Given the description of an element on the screen output the (x, y) to click on. 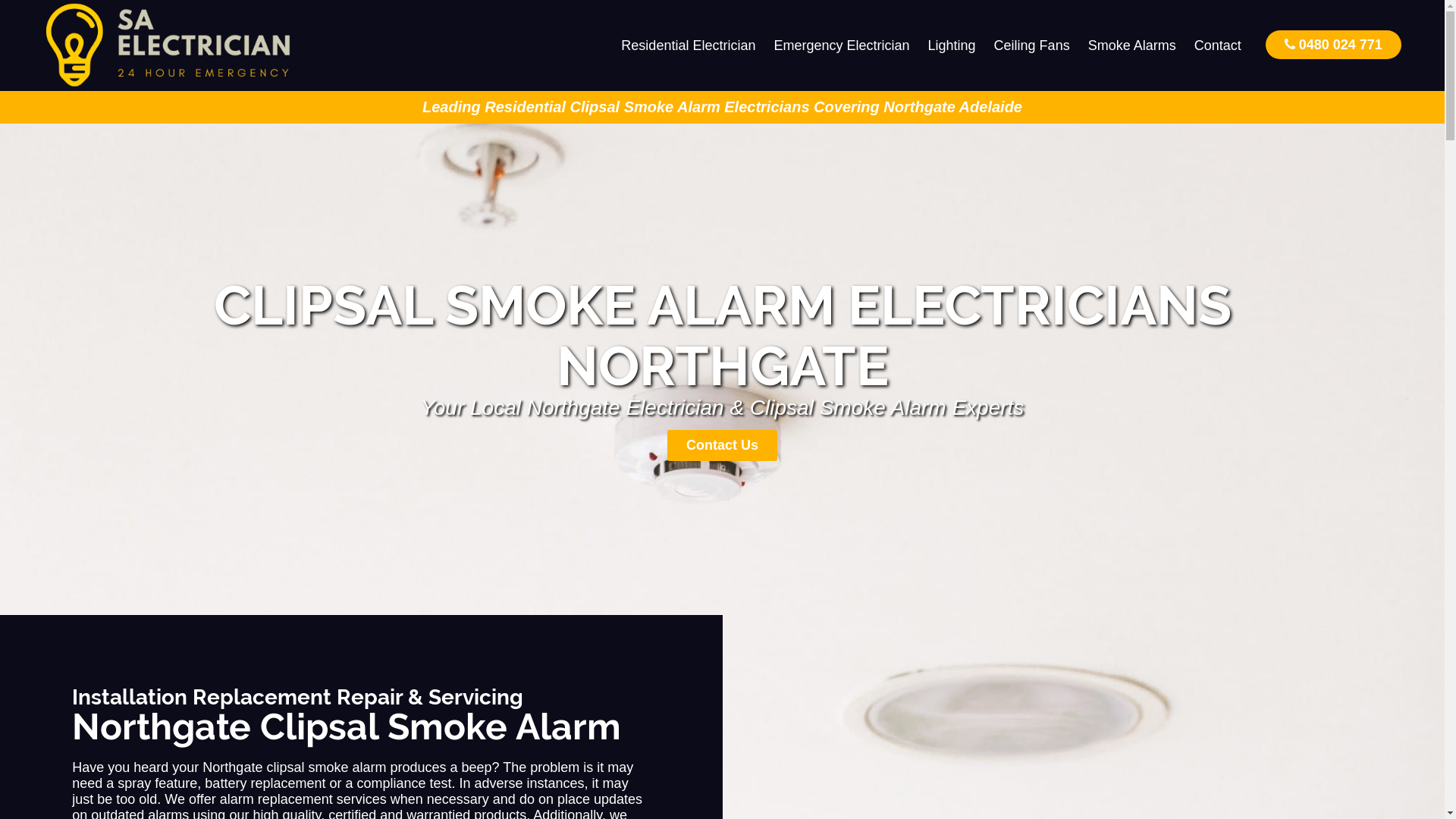
Ceiling Fans Element type: text (1032, 45)
Lighting Element type: text (952, 45)
Contact Us Element type: text (722, 445)
Smoke Alarms Element type: text (1132, 45)
0480 024 771 Element type: text (1333, 44)
Contact Element type: text (1217, 45)
Emergency Electrician Element type: text (841, 45)
Residential Electrician Element type: text (687, 45)
